Given the description of an element on the screen output the (x, y) to click on. 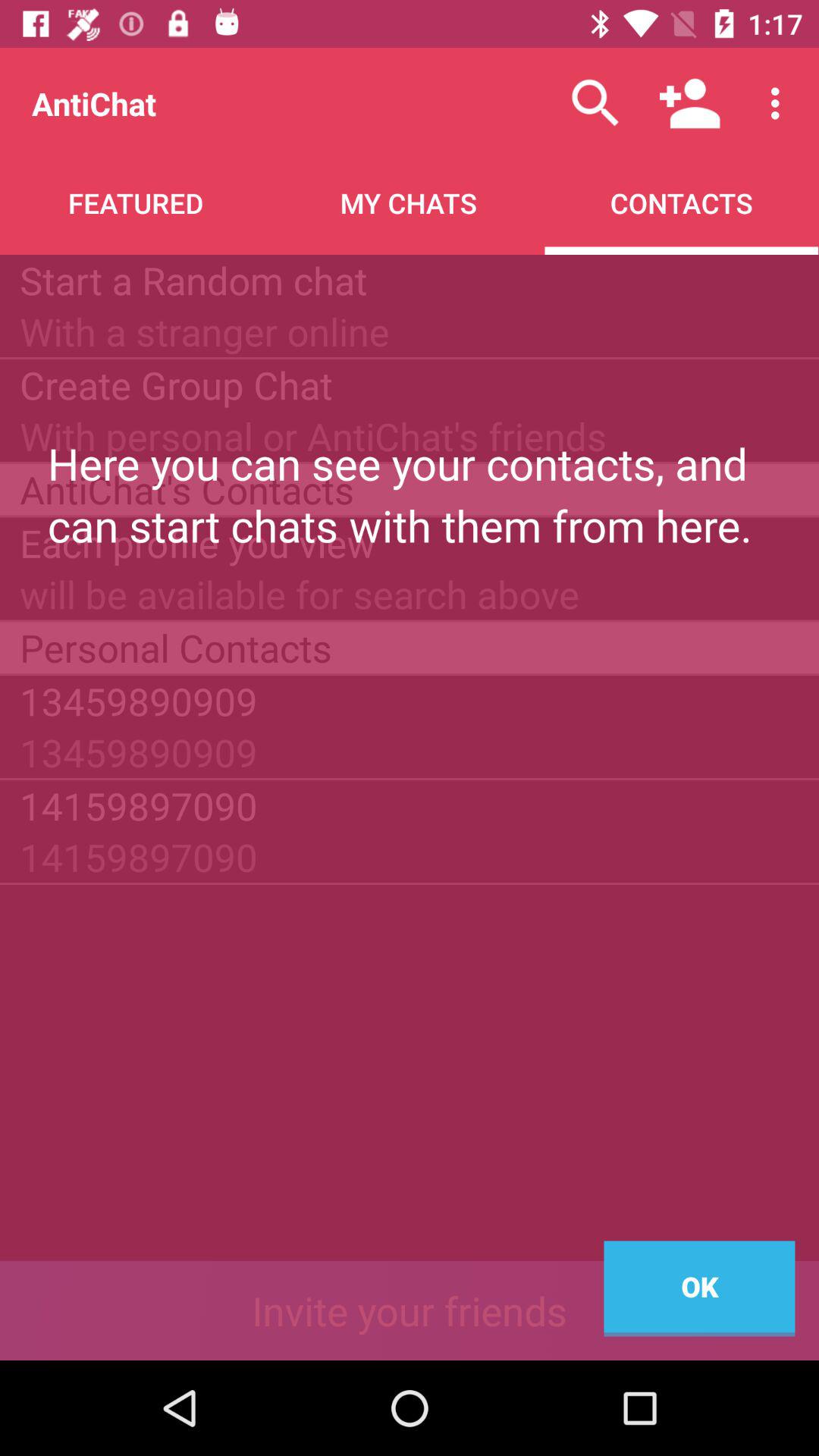
invite friends (409, 1310)
